Given the description of an element on the screen output the (x, y) to click on. 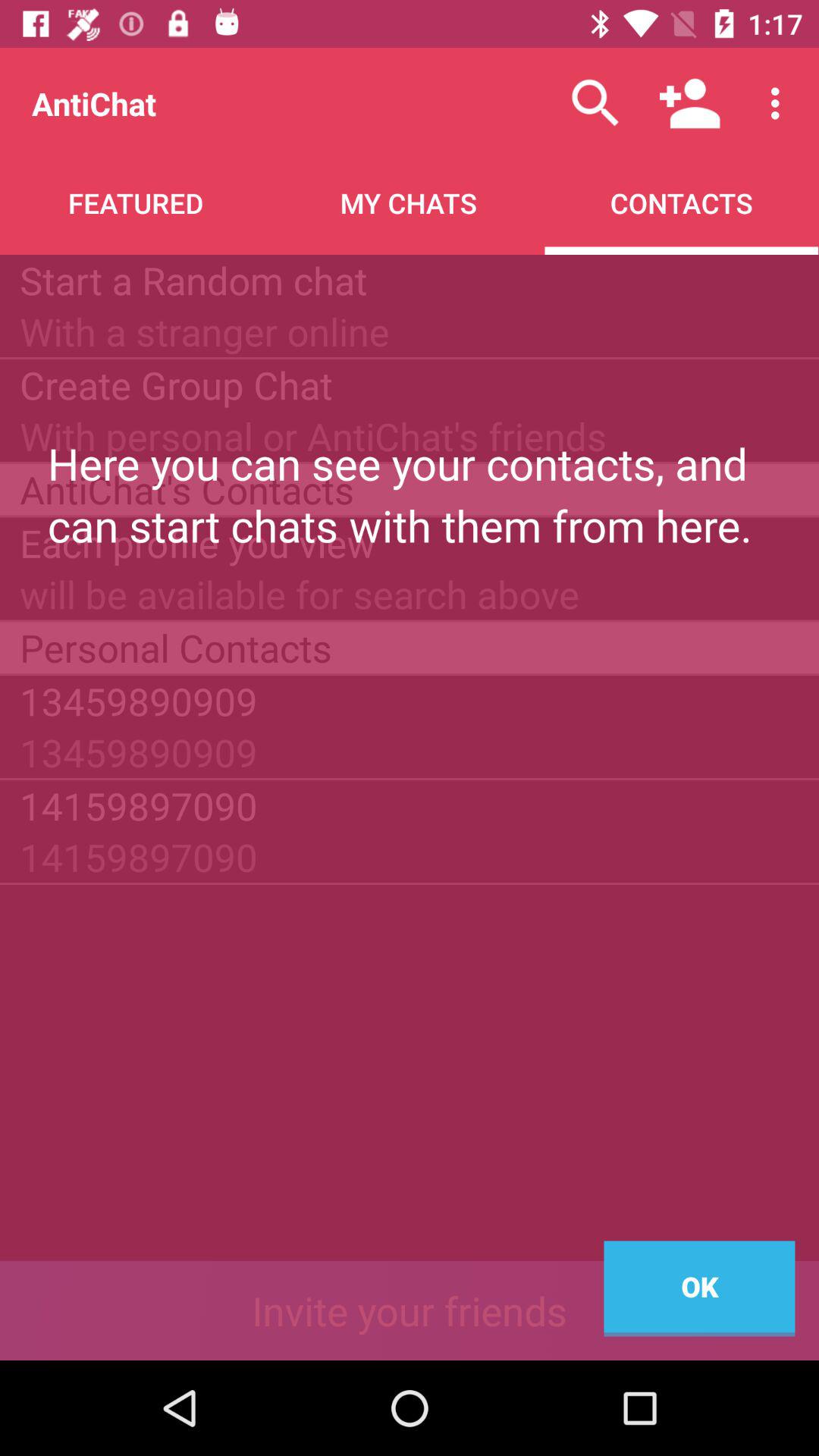
invite friends (409, 1310)
